Given the description of an element on the screen output the (x, y) to click on. 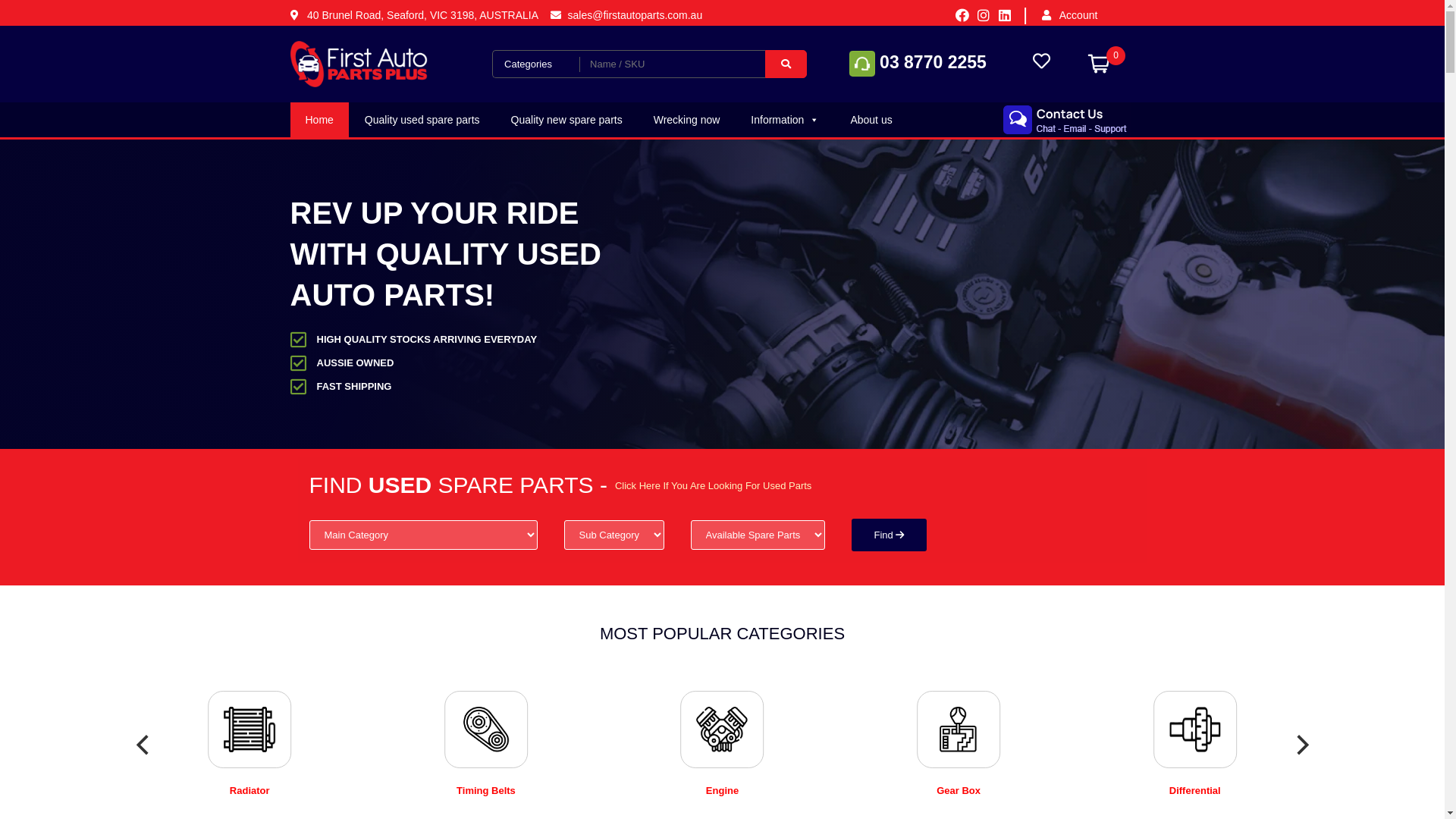
Wrecking now Element type: text (686, 119)
Engine Element type: text (722, 790)
Differential Element type: text (1194, 790)
Quality new spare parts Element type: text (566, 119)
Home Element type: text (318, 119)
sales@firstautoparts.com.au Element type: text (626, 15)
About us Element type: text (870, 119)
Find Element type: text (888, 534)
Linkedin Element type: text (1004, 14)
Quality used spare parts Element type: text (422, 119)
Facebook Element type: text (962, 14)
Click Here If You Are Looking For Used Parts Element type: text (713, 485)
Timing Belts Element type: text (485, 790)
03 8770 2255 Element type: text (917, 62)
Gear Box Element type: text (958, 790)
0 Element type: text (1098, 63)
Instagram Element type: text (983, 14)
Radiator Element type: text (249, 790)
Information Element type: text (784, 119)
Account Element type: text (1095, 15)
